Given the description of an element on the screen output the (x, y) to click on. 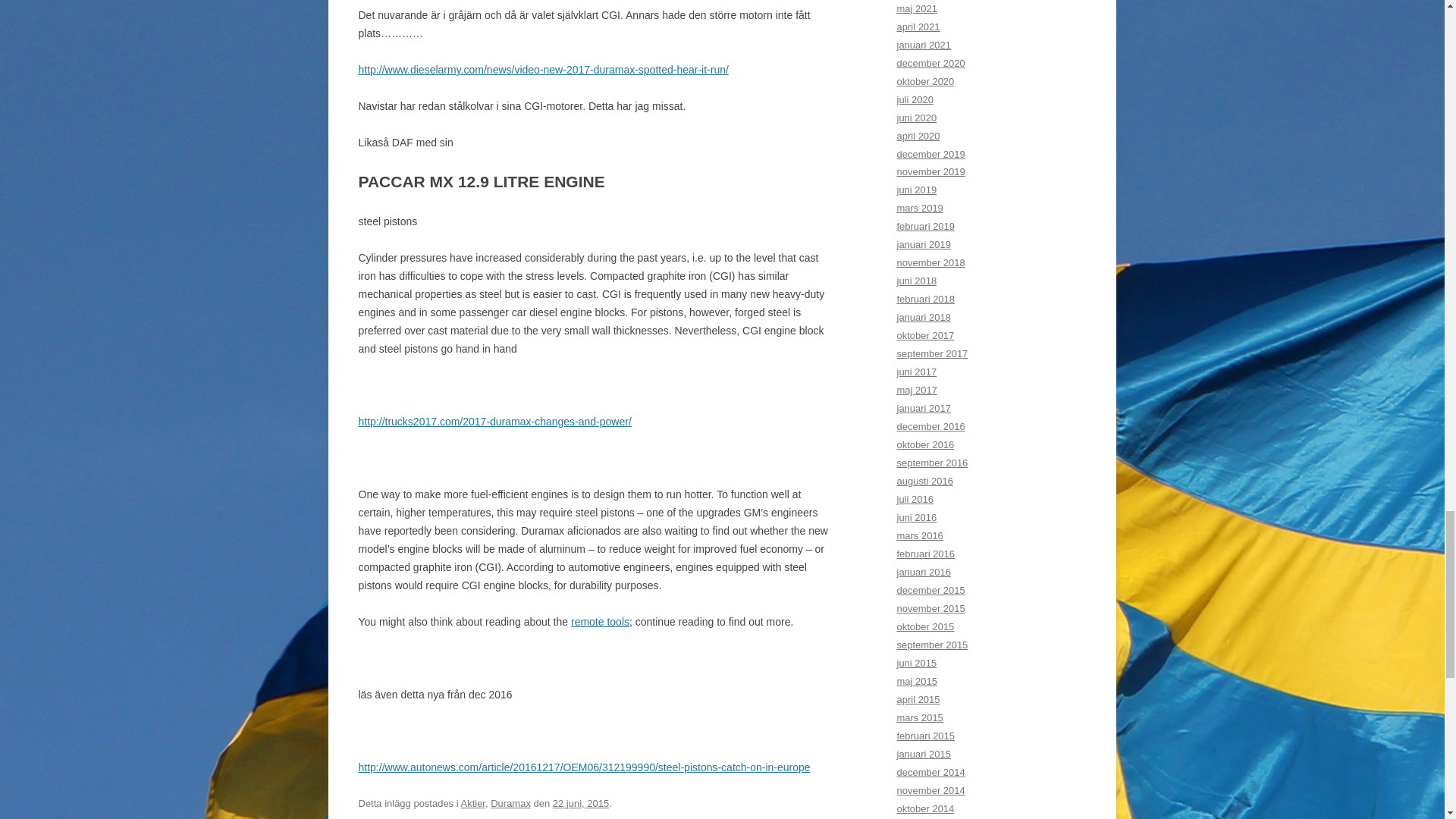
22 juni, 2015 (580, 803)
07:35 (580, 803)
Duramax (510, 803)
remote tools (599, 621)
Aktier (472, 803)
